Given the description of an element on the screen output the (x, y) to click on. 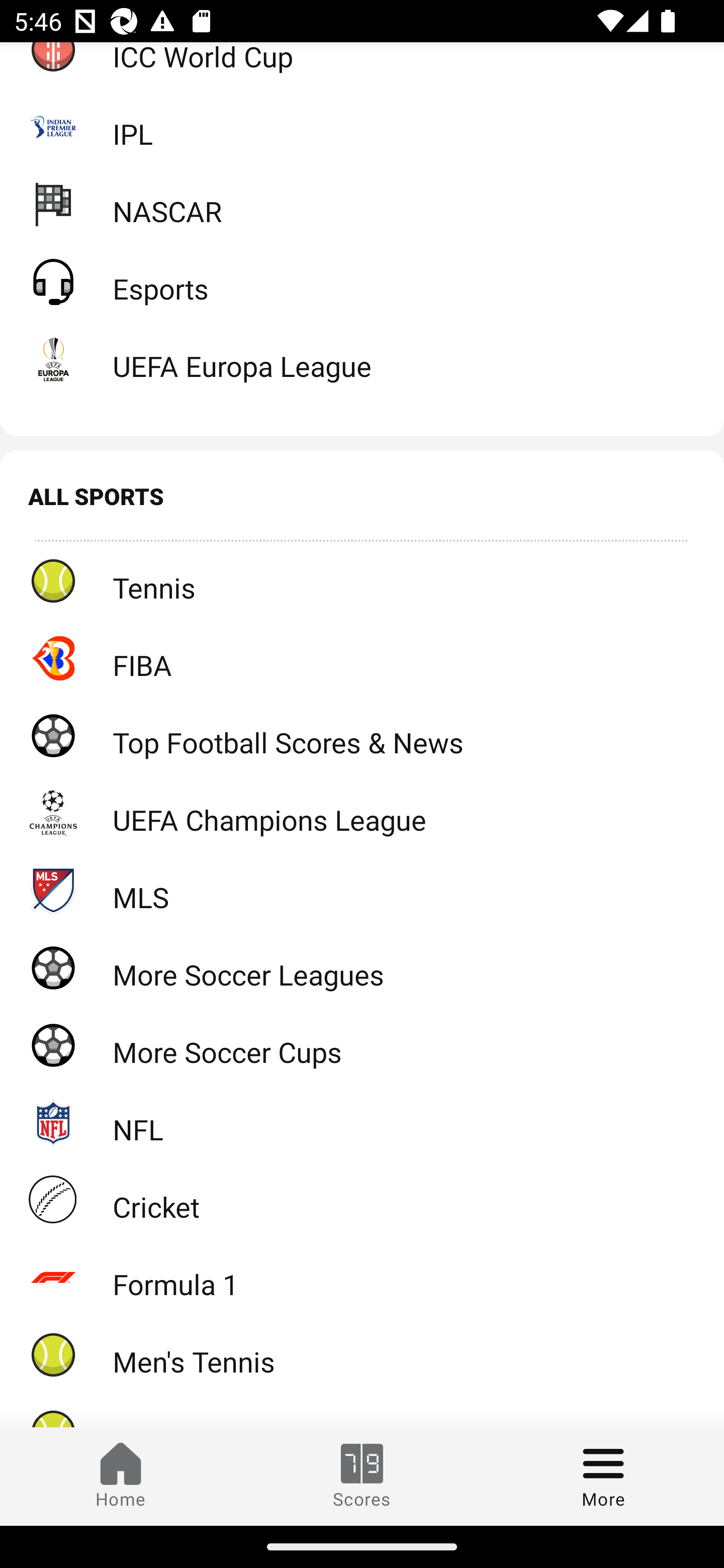
ICC World Cup (362, 64)
IPL (362, 125)
NASCAR (362, 203)
Esports (362, 281)
UEFA Europa League (362, 358)
Tennis (362, 580)
FIBA  (362, 657)
Top Football Scores & News (362, 735)
UEFA Champions League (362, 812)
MLS (362, 889)
More Soccer Leagues (362, 967)
More Soccer Cups (362, 1044)
NFL (362, 1121)
Cricket G Cricket (362, 1199)
Formula 1 (362, 1276)
Men's Tennis (362, 1353)
Home (120, 1475)
Scores (361, 1475)
